Given the description of an element on the screen output the (x, y) to click on. 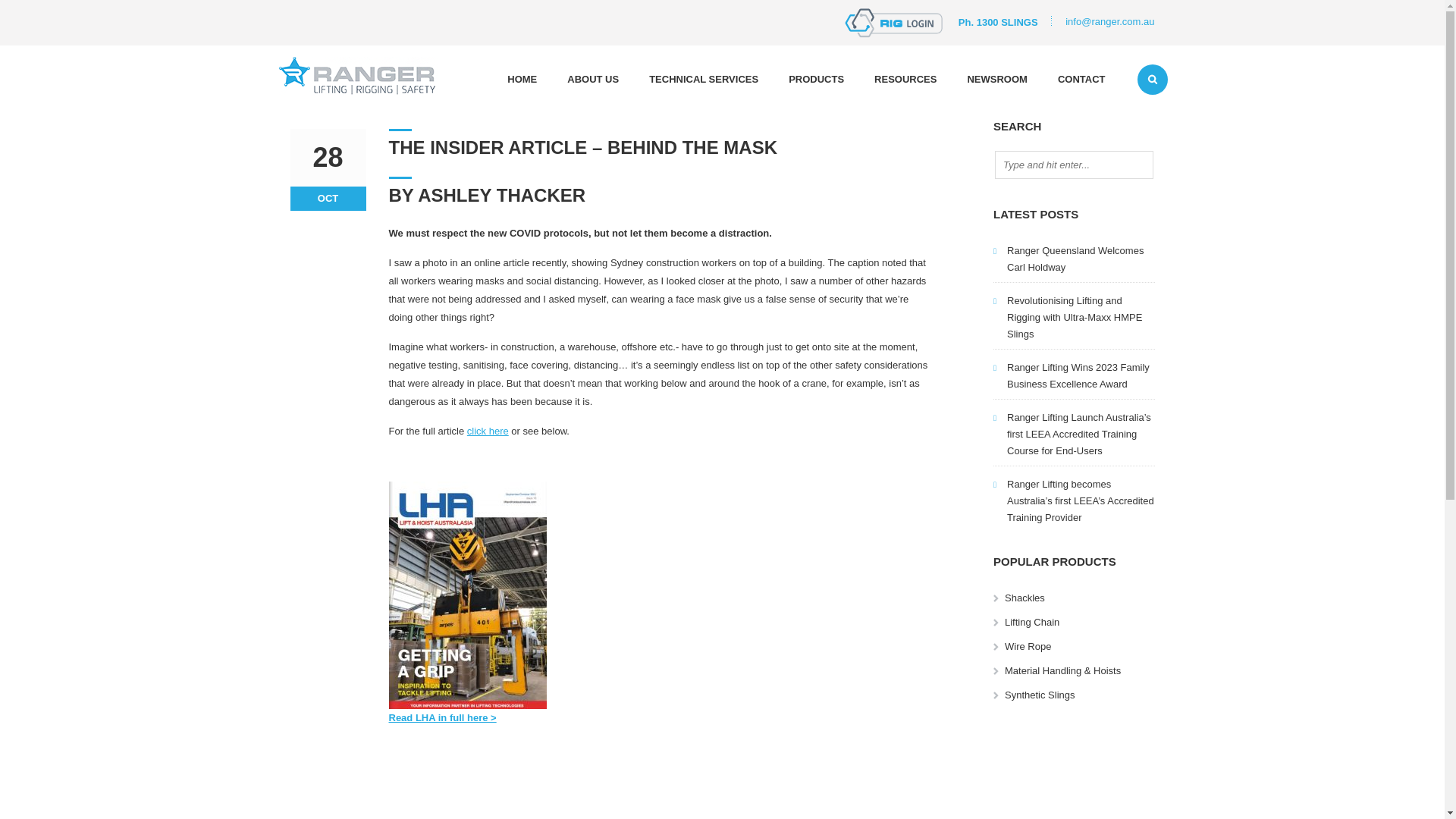
Home (521, 81)
About Us (592, 81)
Technical Services (703, 81)
Ranger (358, 75)
